Given the description of an element on the screen output the (x, y) to click on. 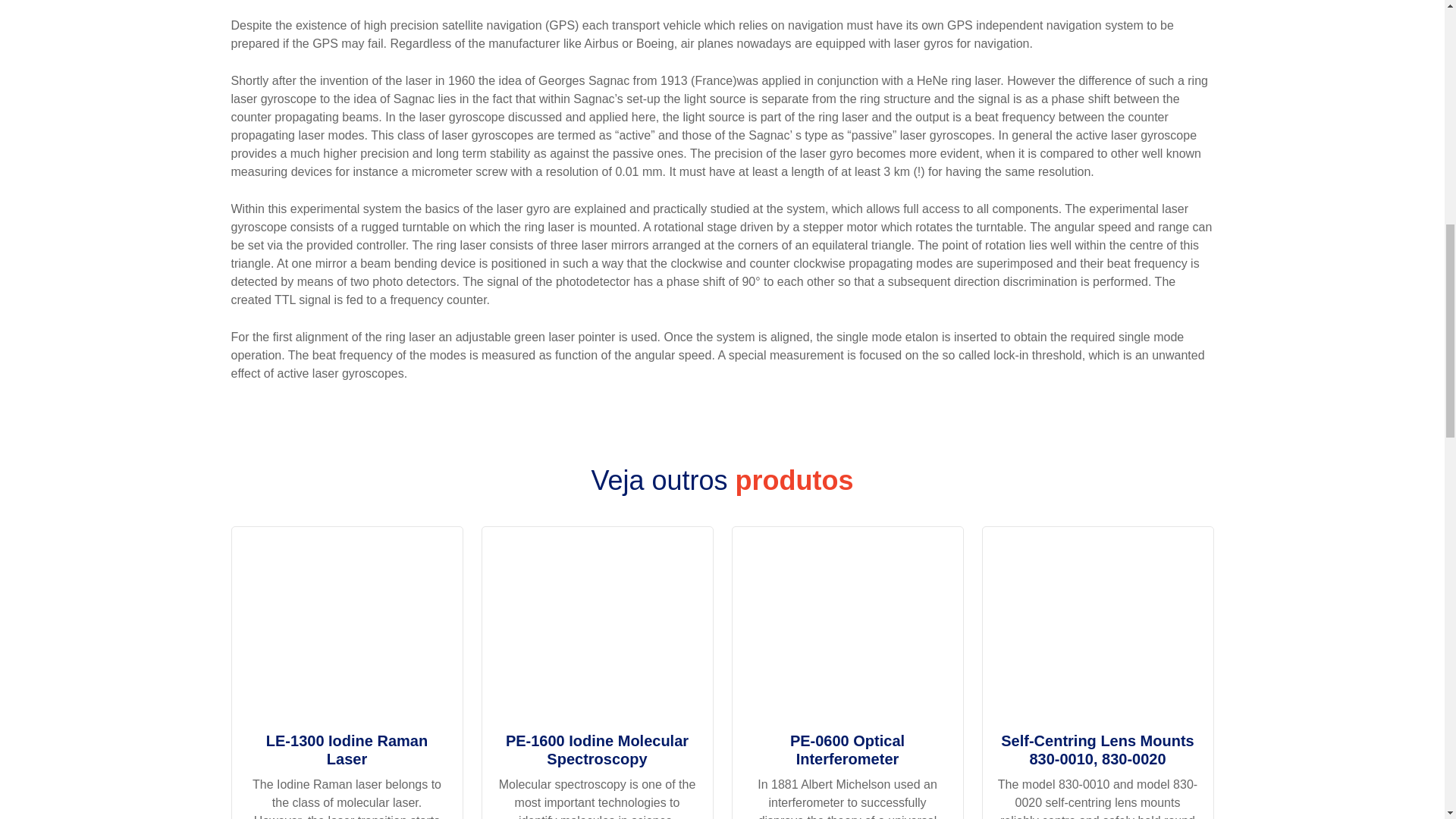
LE-1300 Iodine Raman Laser (346, 632)
PE-1600 Iodine Molecular Spectroscopy (597, 632)
PE-0600 Optical Interferometer (847, 632)
